Given the description of an element on the screen output the (x, y) to click on. 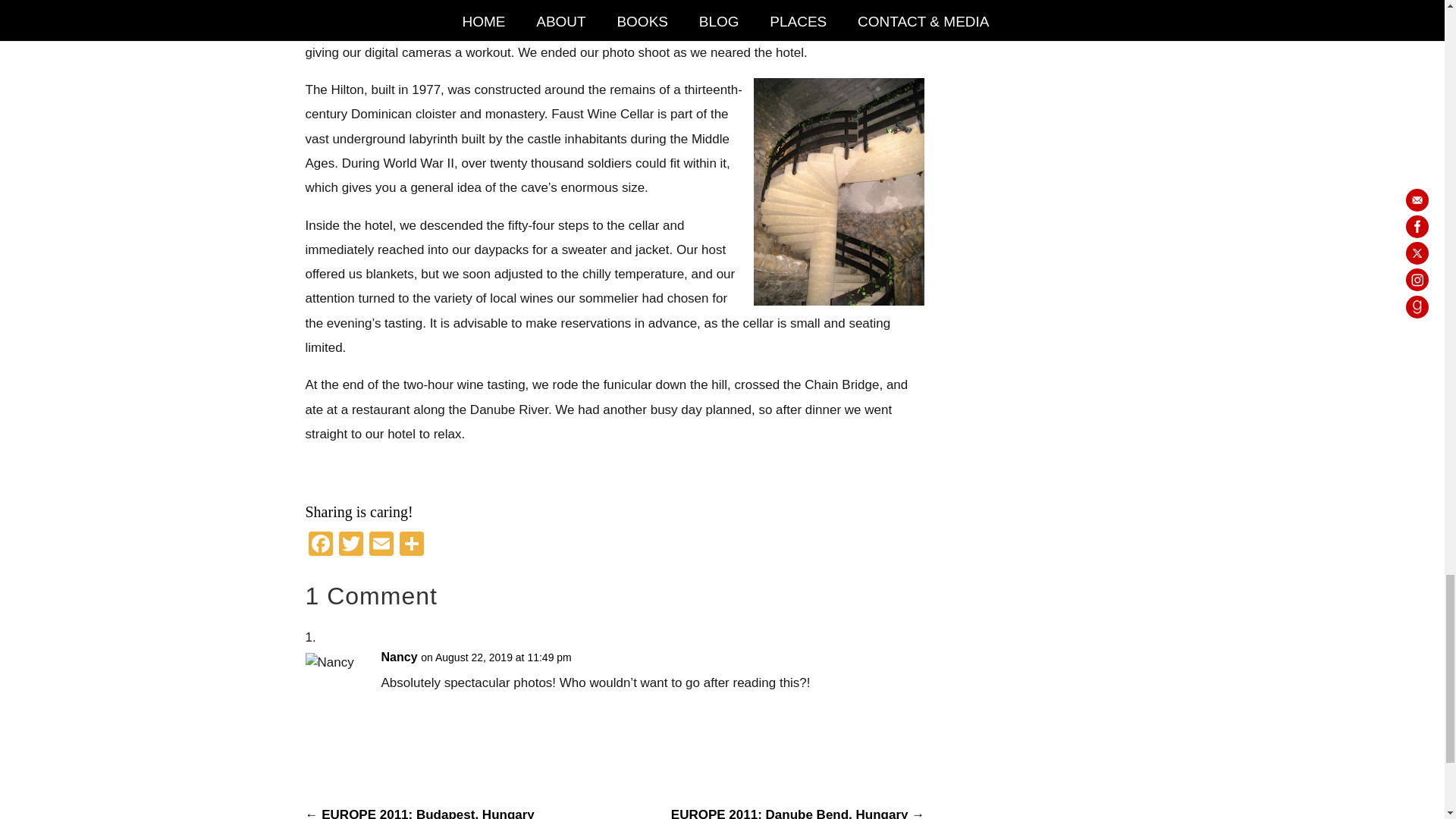
Share (411, 545)
Facebook (319, 545)
Twitter (349, 545)
Facebook (319, 545)
Twitter (349, 545)
Email (380, 545)
Email (380, 545)
